Given the description of an element on the screen output the (x, y) to click on. 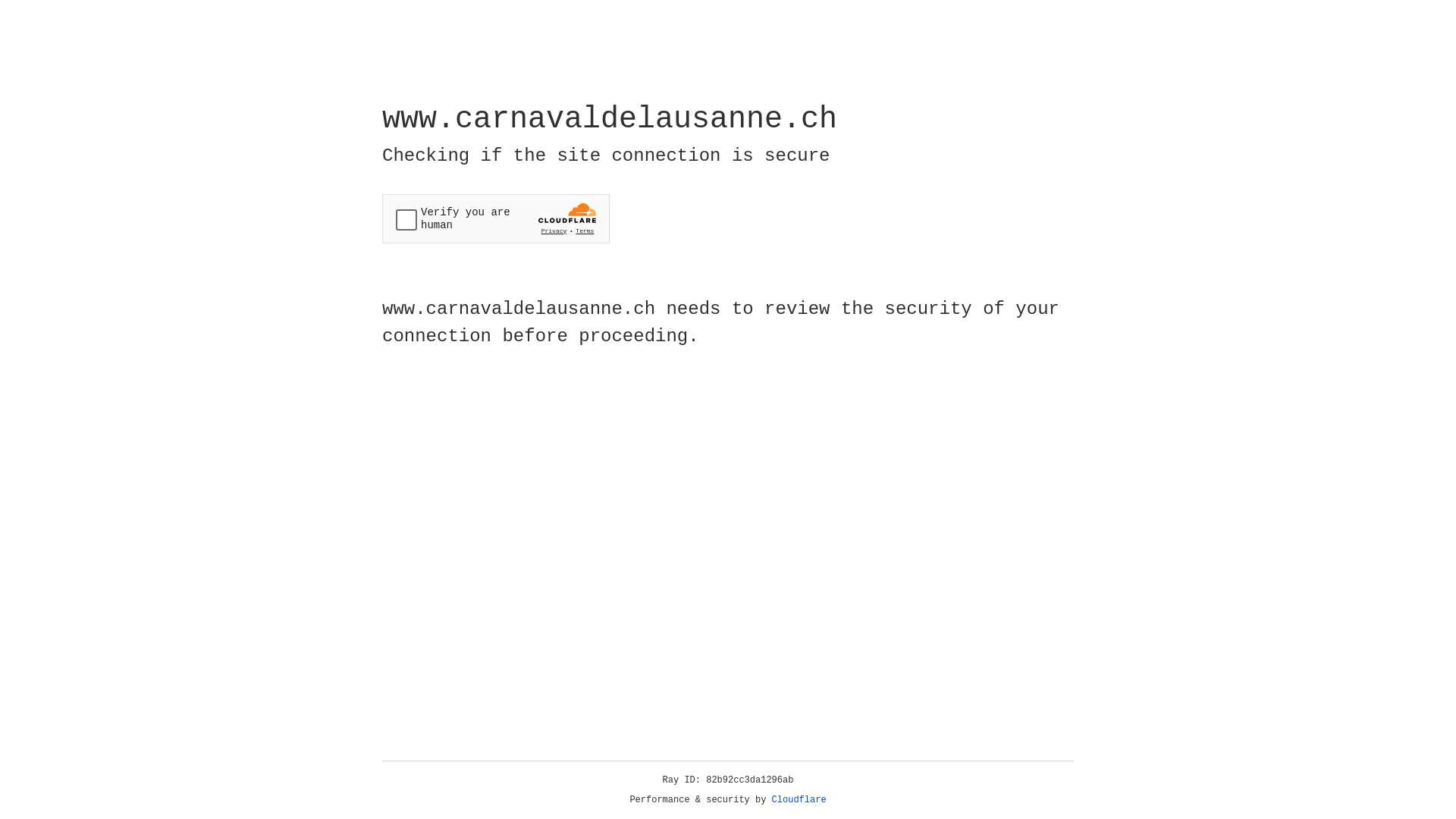
Cloudflare Element type: text (798, 799)
Widget containing a Cloudflare security challenge Element type: hover (495, 218)
